Given the description of an element on the screen output the (x, y) to click on. 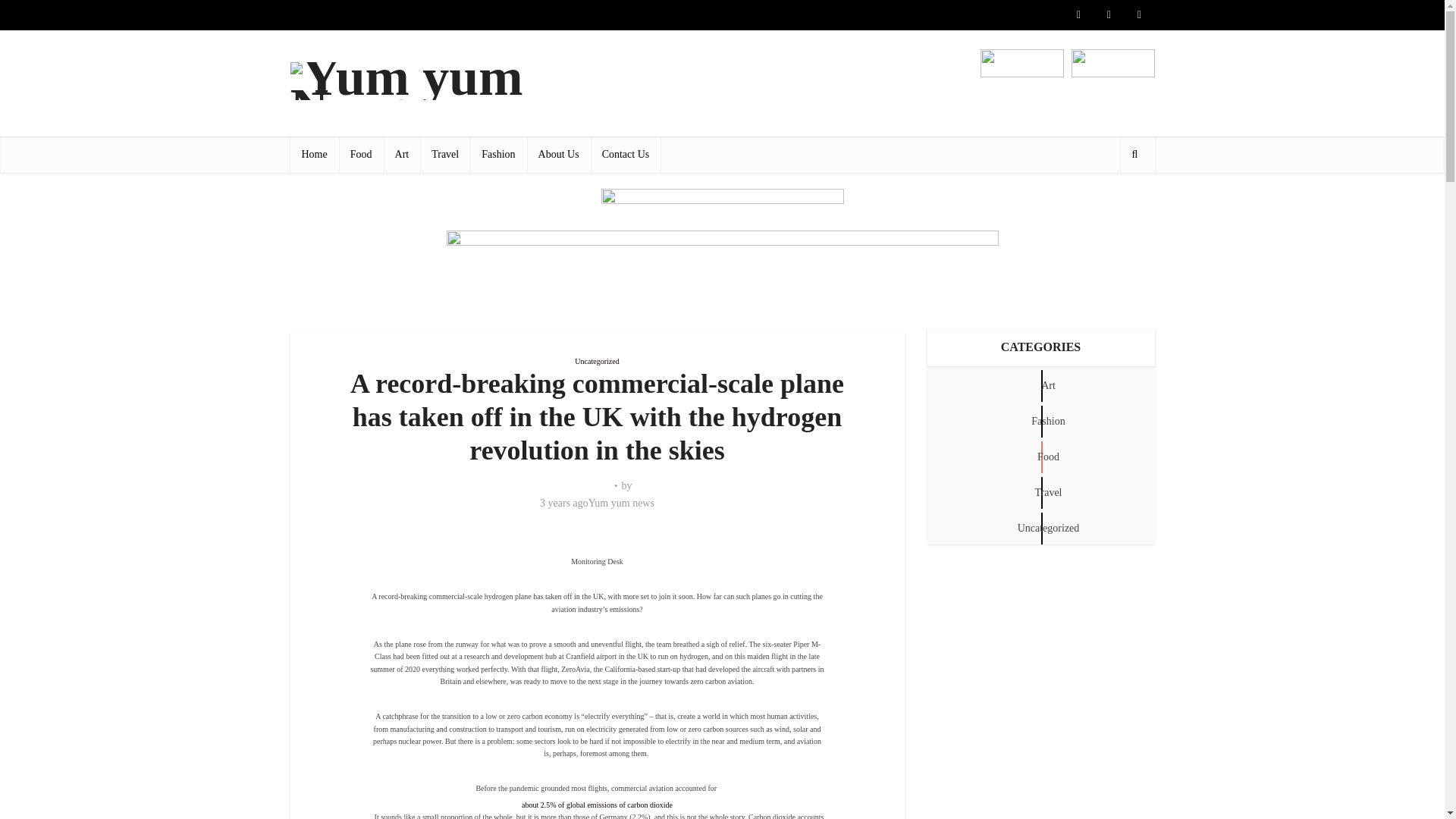
Uncategorized (596, 361)
About Us (559, 154)
Art (402, 154)
Food (361, 154)
Home (313, 154)
Travel (445, 154)
Fashion (497, 154)
Yum yum news (620, 503)
Contact Us (626, 154)
